Given the description of an element on the screen output the (x, y) to click on. 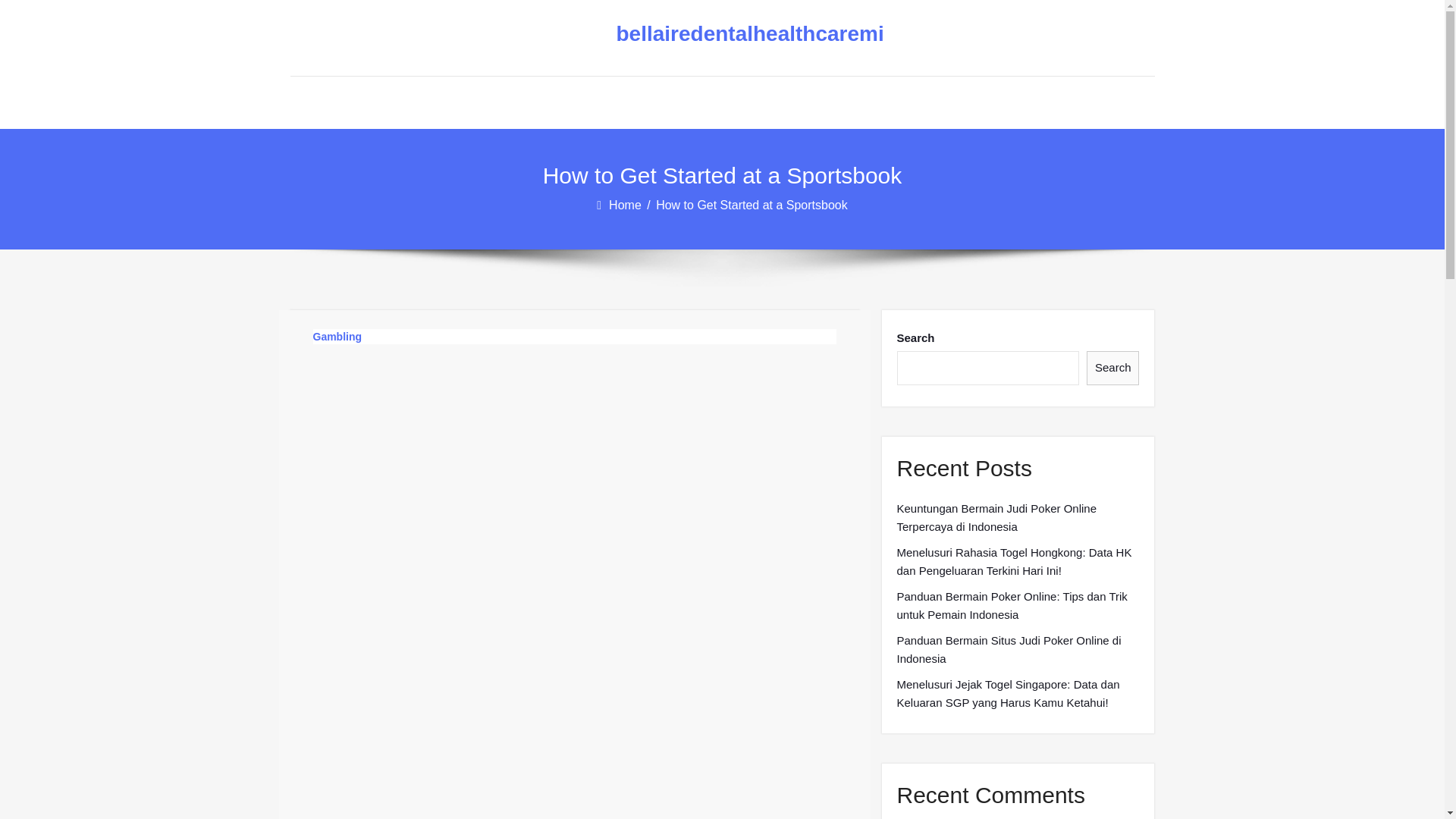
Search (1113, 367)
Home (625, 205)
September 16, 2022 (482, 402)
Panduan Bermain Situs Judi Poker Online di Indonesia (1017, 649)
20Juli2022 (366, 402)
bellairedentalhealthcaremi (710, 34)
Gambling (337, 336)
Keuntungan Bermain Judi Poker Online Terpercaya di Indonesia (1017, 517)
